Given the description of an element on the screen output the (x, y) to click on. 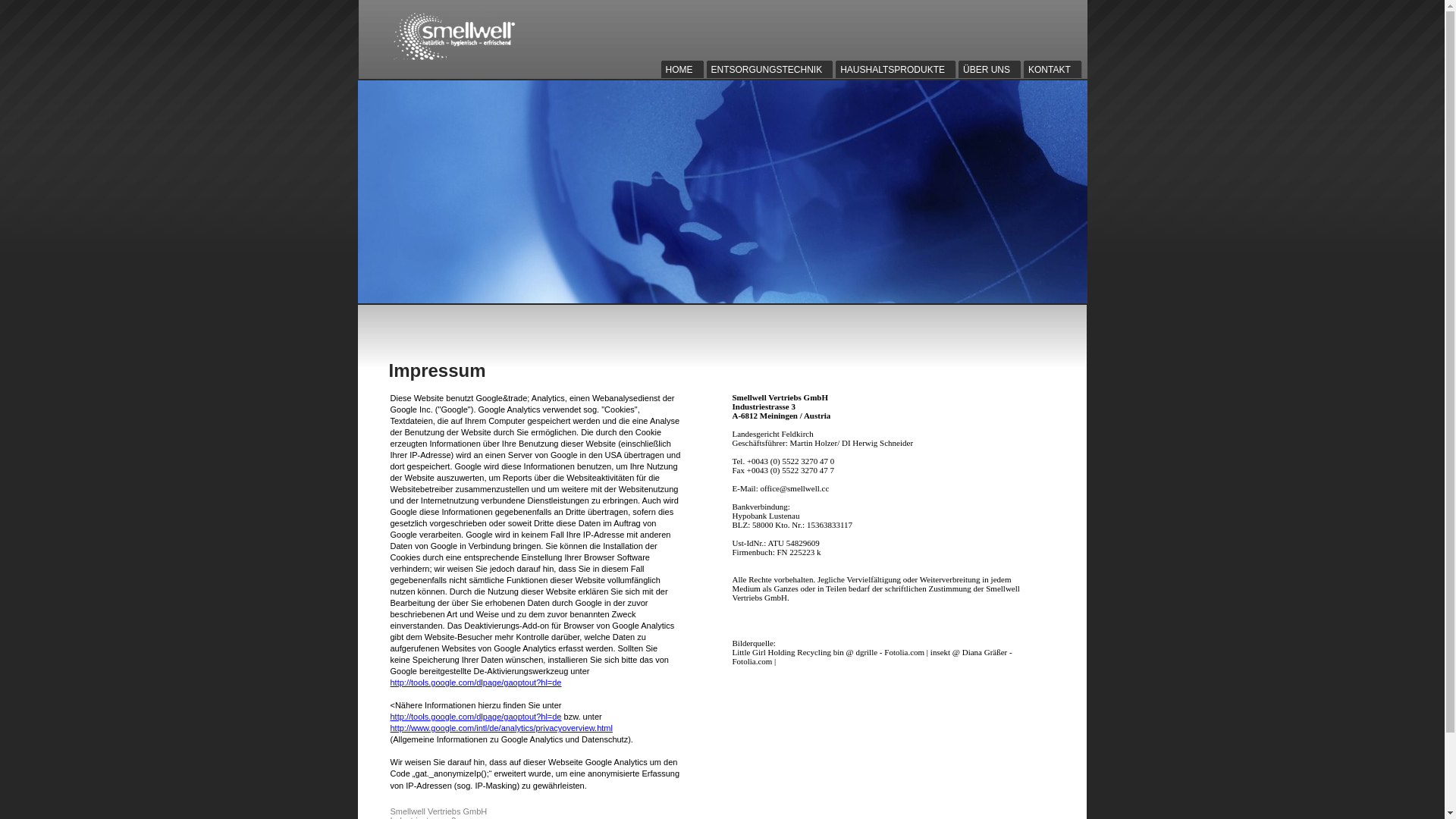
KONTAKT Element type: text (1053, 69)
HOME Element type: text (683, 69)
HAUSHALTSPRODUKTE Element type: text (896, 69)
http://tools.google.com/dlpage/gaoptout?hl=de Element type: text (475, 682)
ENTSORGUNGSTECHNIK Element type: text (771, 69)
http://tools.google.com/dlpage/gaoptout?hl=de Element type: text (475, 716)
http://www.google.com/intl/de/analytics/privacyoverview.html Element type: text (500, 727)
